Given the description of an element on the screen output the (x, y) to click on. 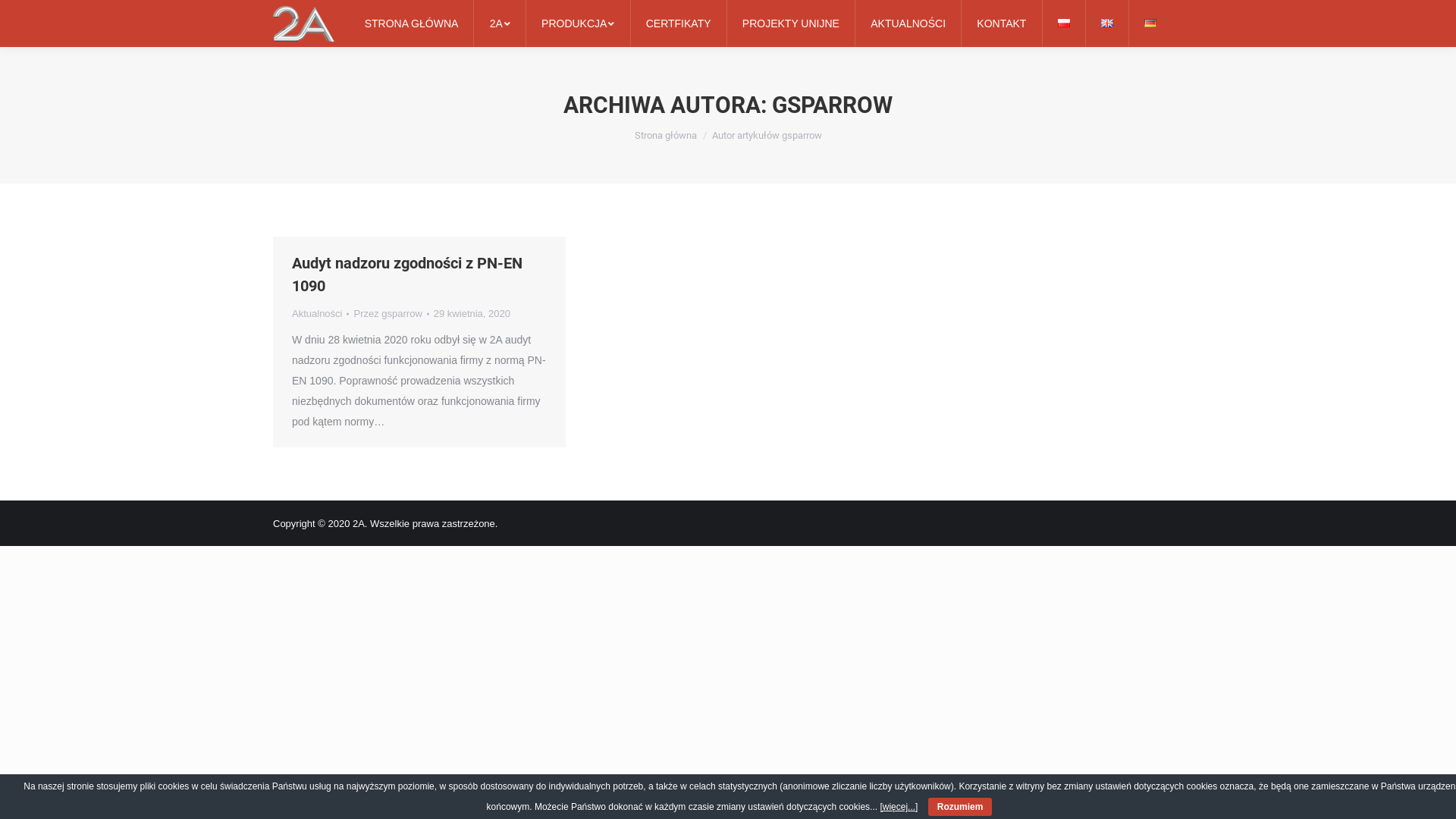
CERTFIKATY Element type: text (678, 23)
KONTAKT Element type: text (1001, 23)
Rozumiem Element type: text (960, 806)
Przez gsparrow Element type: text (390, 313)
Polski (pl_PL) Element type: hover (1063, 22)
PROJEKTY UNIJNE Element type: text (790, 23)
2A Element type: text (499, 23)
29 kwietnia, 2020 Element type: text (471, 313)
GSPARROW Element type: text (831, 104)
Deutsch (de_DE) Element type: hover (1150, 22)
PRODUKCJA Element type: text (577, 23)
English (en_GB) Element type: hover (1107, 22)
